Given the description of an element on the screen output the (x, y) to click on. 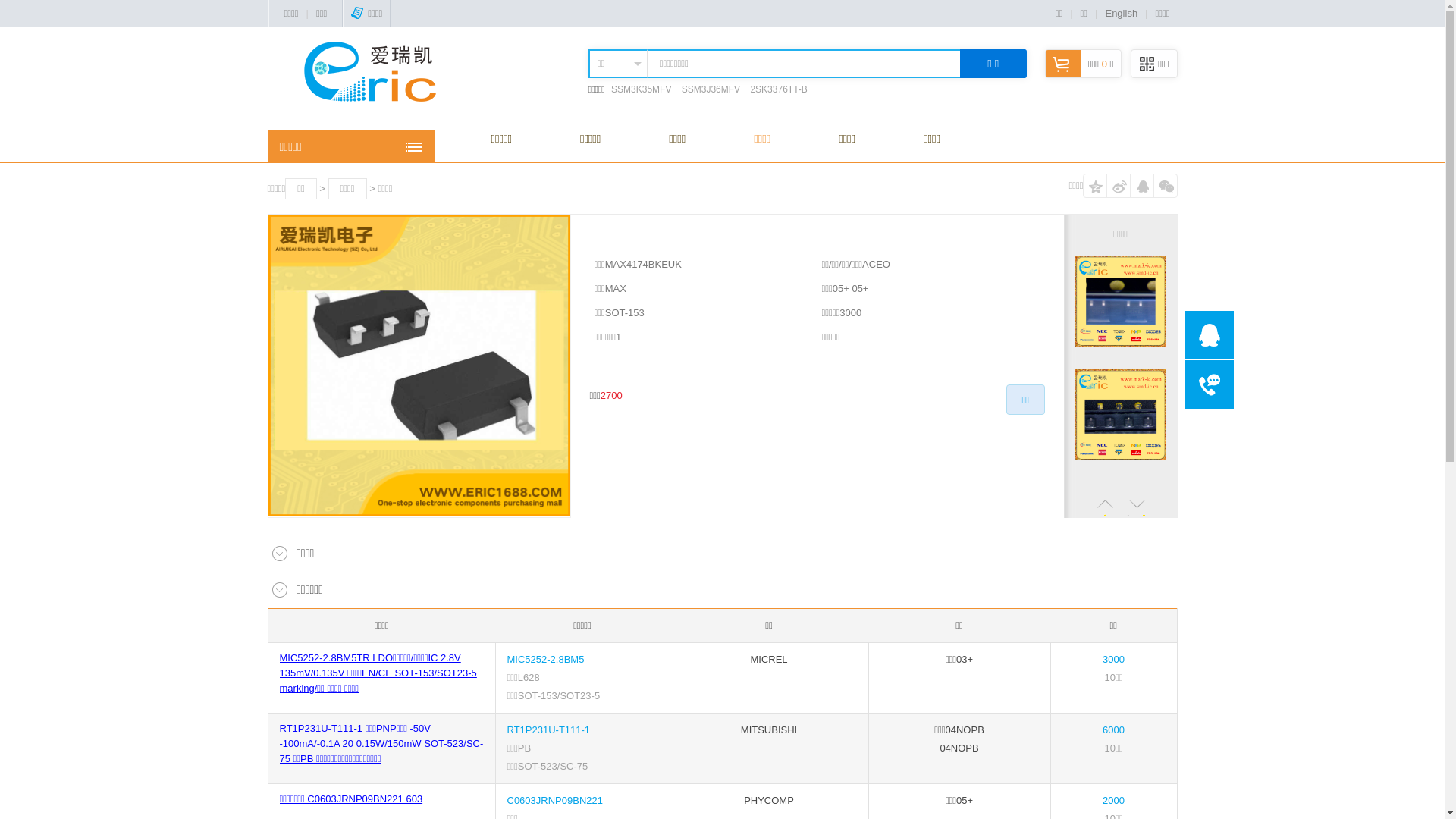
SSM3J36MFV Element type: text (710, 89)
English Element type: text (1120, 12)
SSM3K35MFV Element type: text (641, 89)
2SK3376TT-B Element type: text (777, 89)
